Given the description of an element on the screen output the (x, y) to click on. 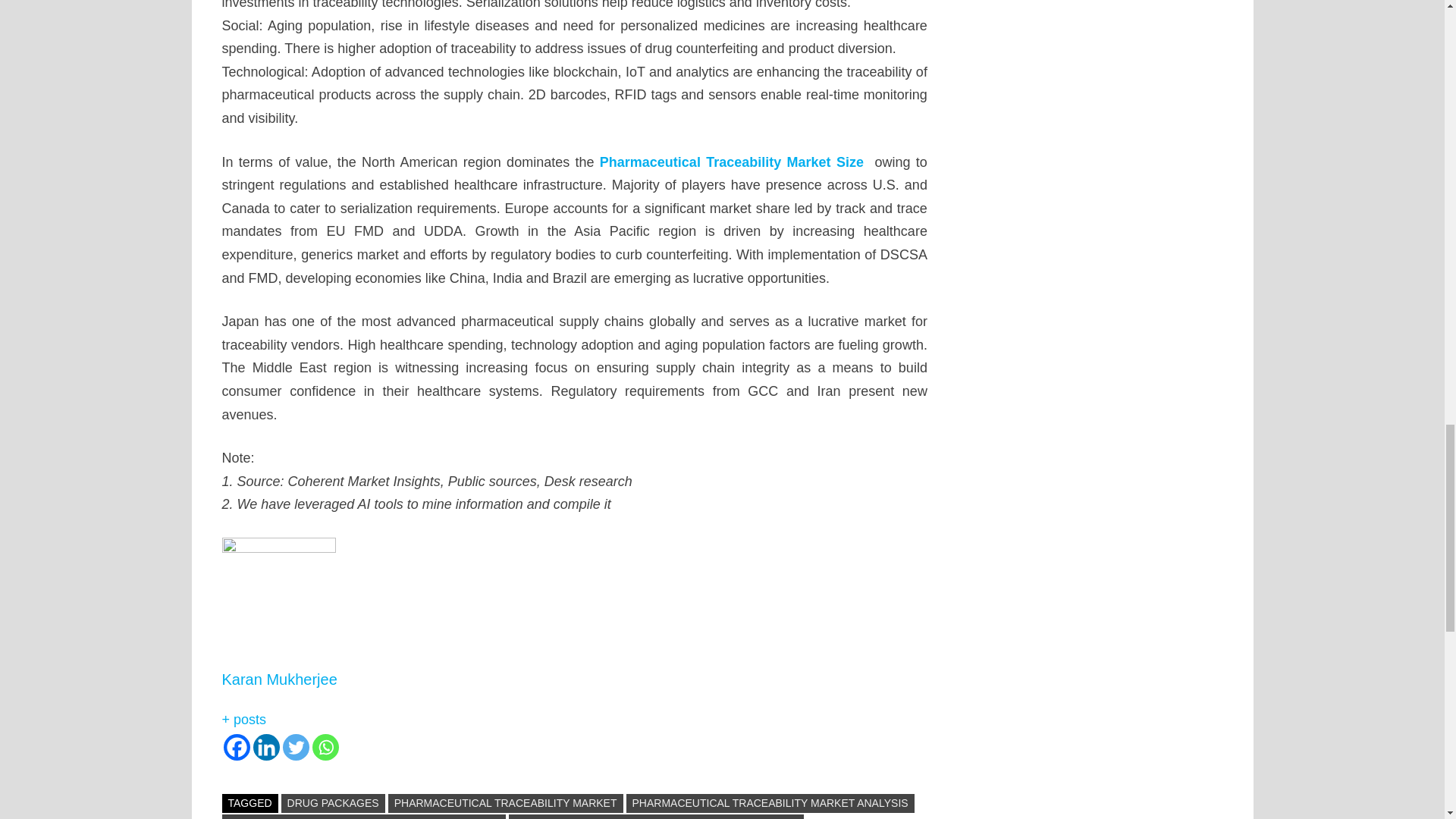
Whatsapp (326, 746)
Facebook (235, 746)
Twitter (295, 746)
Linkedin (266, 746)
